Given the description of an element on the screen output the (x, y) to click on. 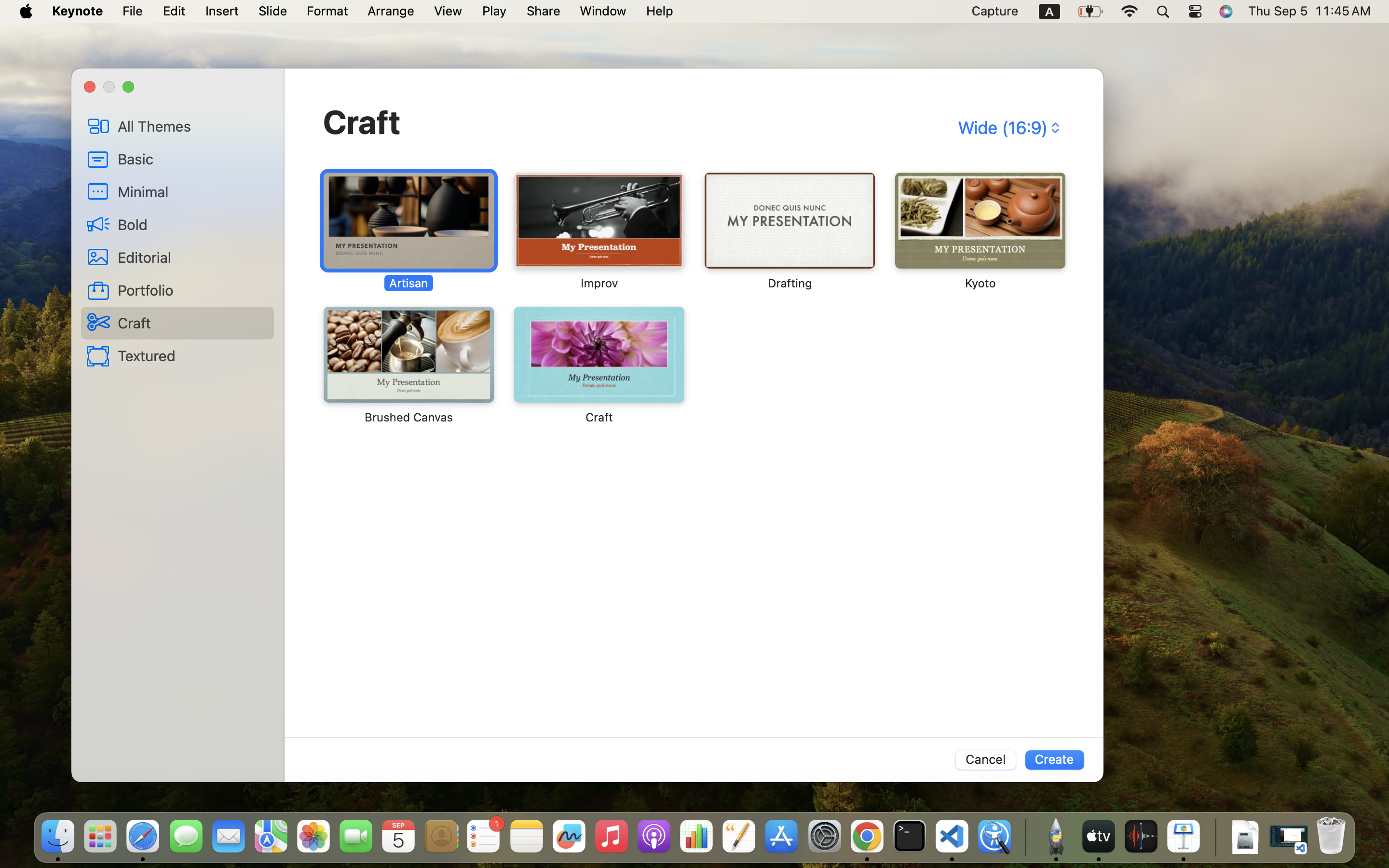
‎⁨Improv⁩ Element type: AXButton (598, 230)
